Given the description of an element on the screen output the (x, y) to click on. 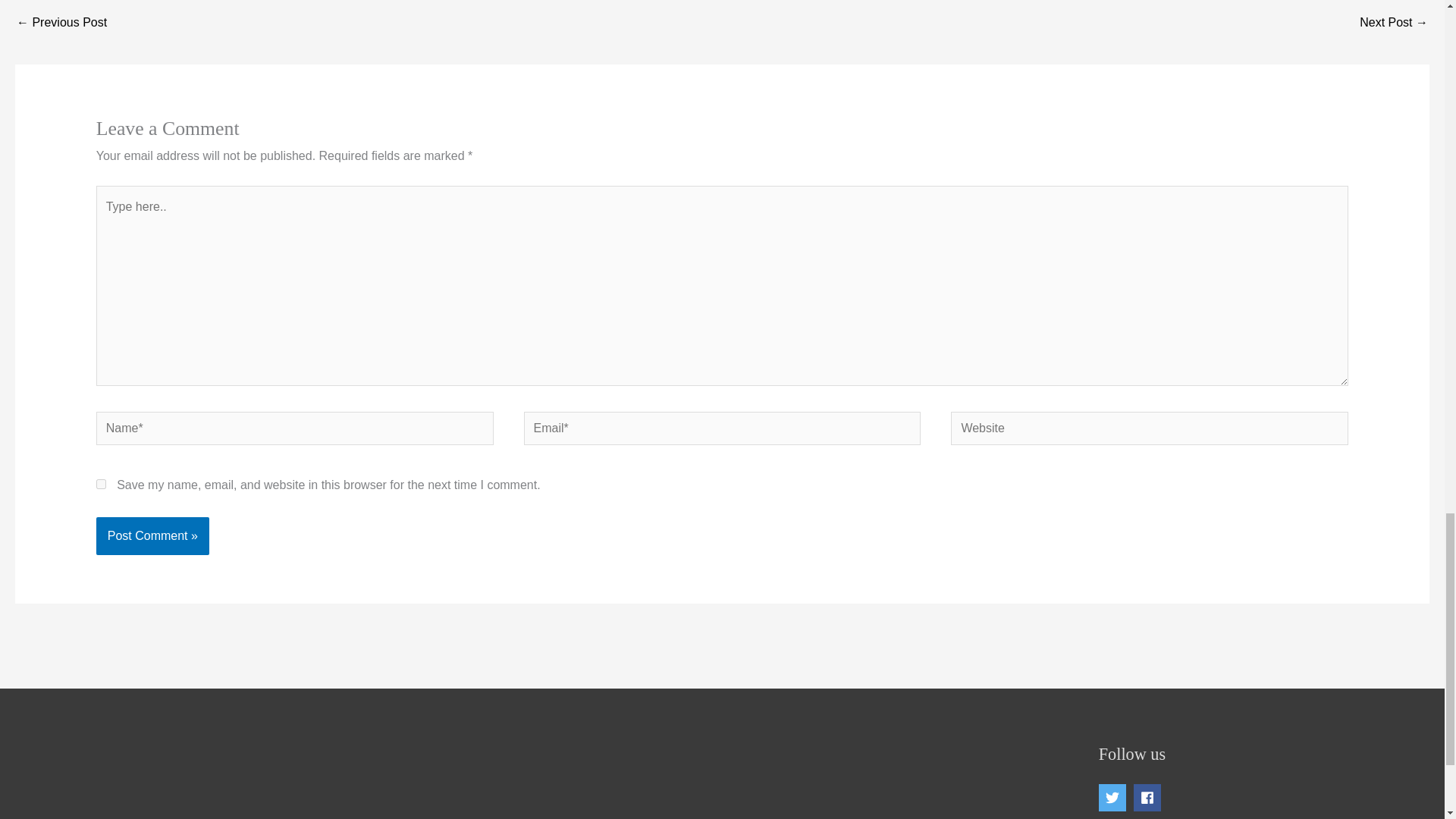
yes (101, 483)
